Given the description of an element on the screen output the (x, y) to click on. 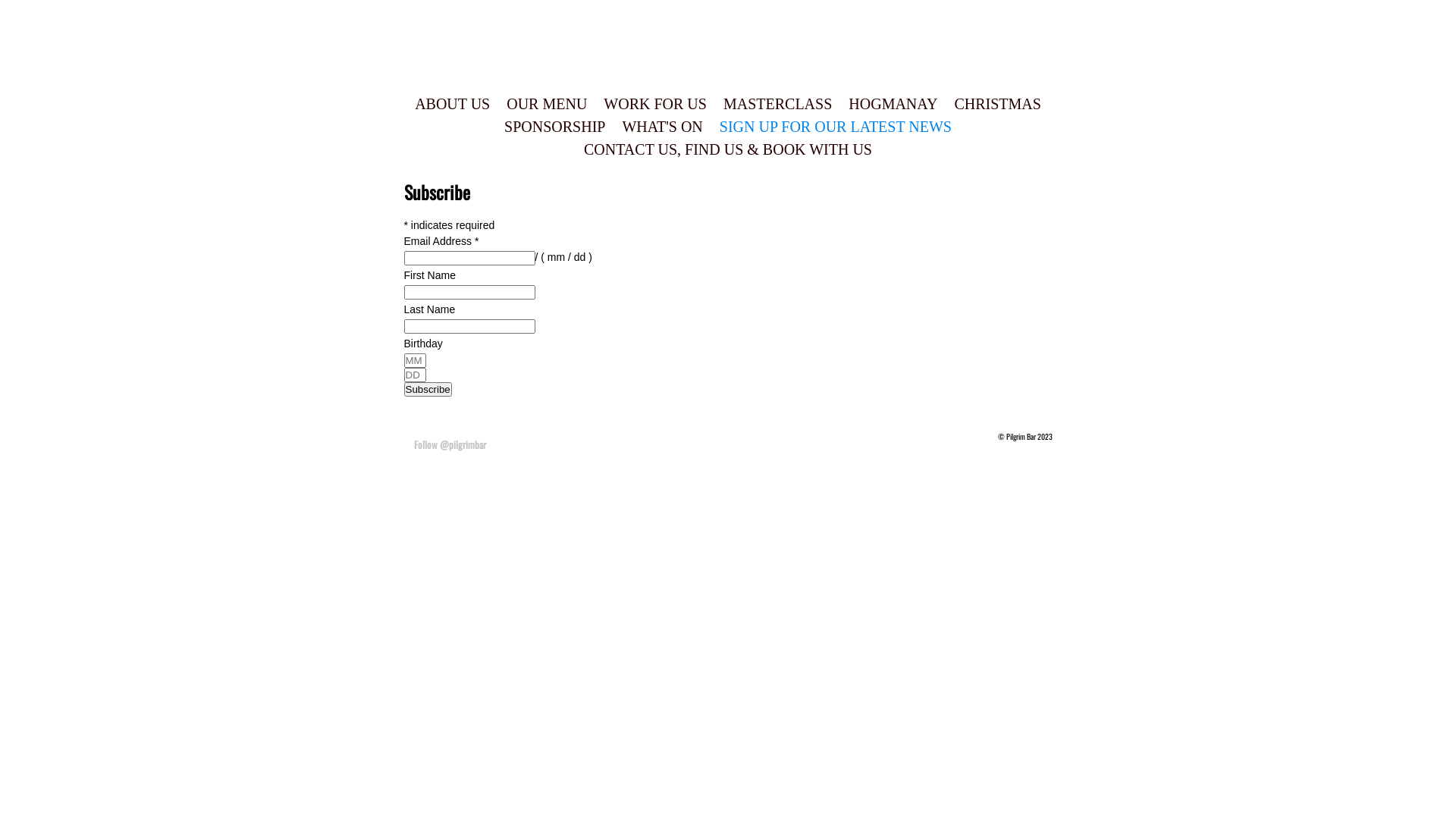
SIGN UP FOR OUR LATEST NEWS Element type: text (835, 126)
WORK FOR US Element type: text (655, 103)
HOGMANAY Element type: text (892, 103)
Subscribe Element type: text (427, 389)
CHRISTMAS Element type: text (996, 103)
OUR MENU Element type: text (546, 103)
Follow @pilgrimbar Element type: text (450, 443)
CONTACT US, FIND US & BOOK WITH US Element type: text (727, 149)
MASTERCLASS Element type: text (777, 103)
ABOUT US Element type: text (452, 103)
SPONSORSHIP Element type: text (554, 126)
WHAT'S ON Element type: text (661, 126)
